Given the description of an element on the screen output the (x, y) to click on. 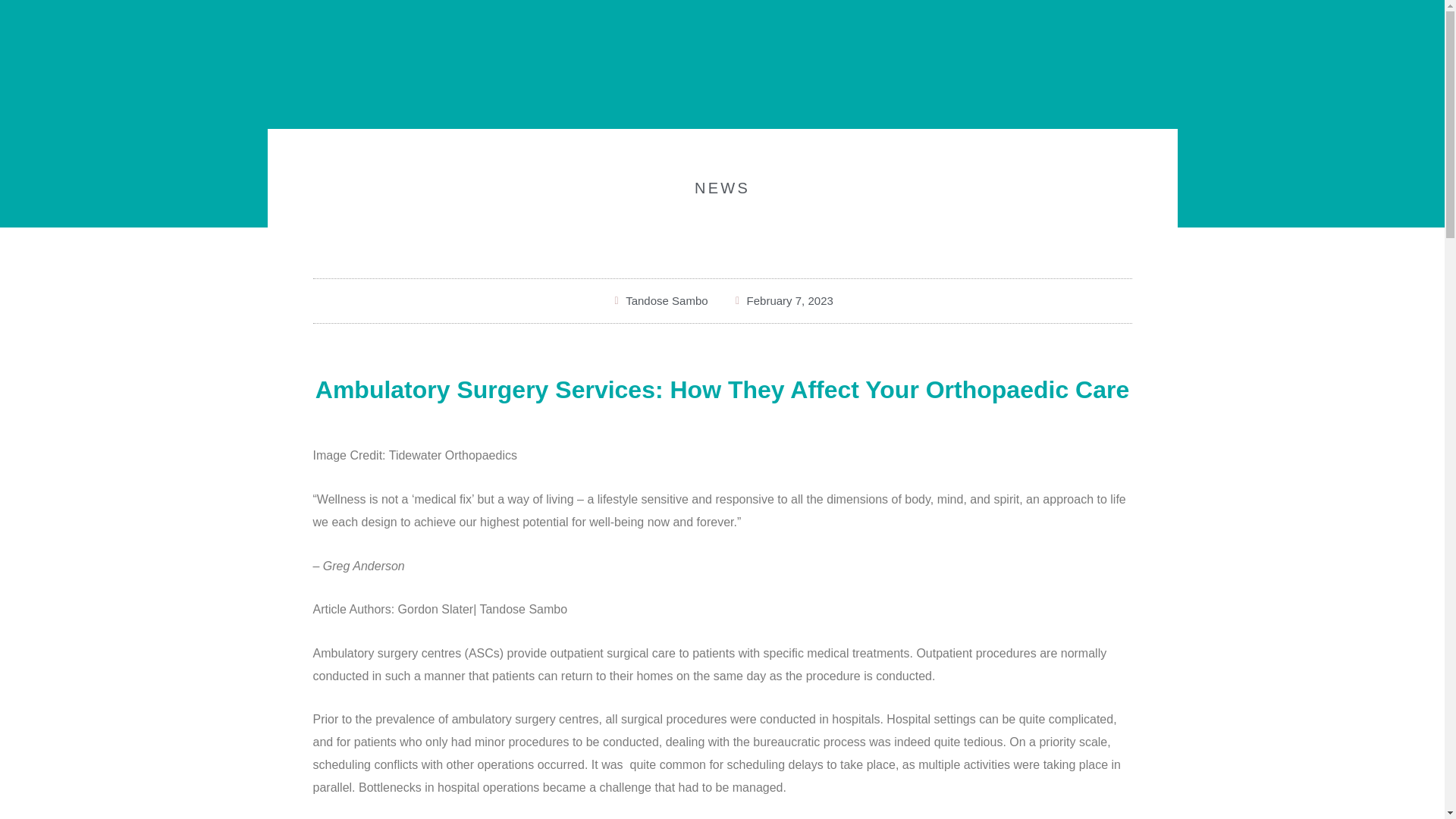
NEWS (721, 187)
Tandose Sambo (659, 301)
February 7, 2023 (782, 301)
